Given the description of an element on the screen output the (x, y) to click on. 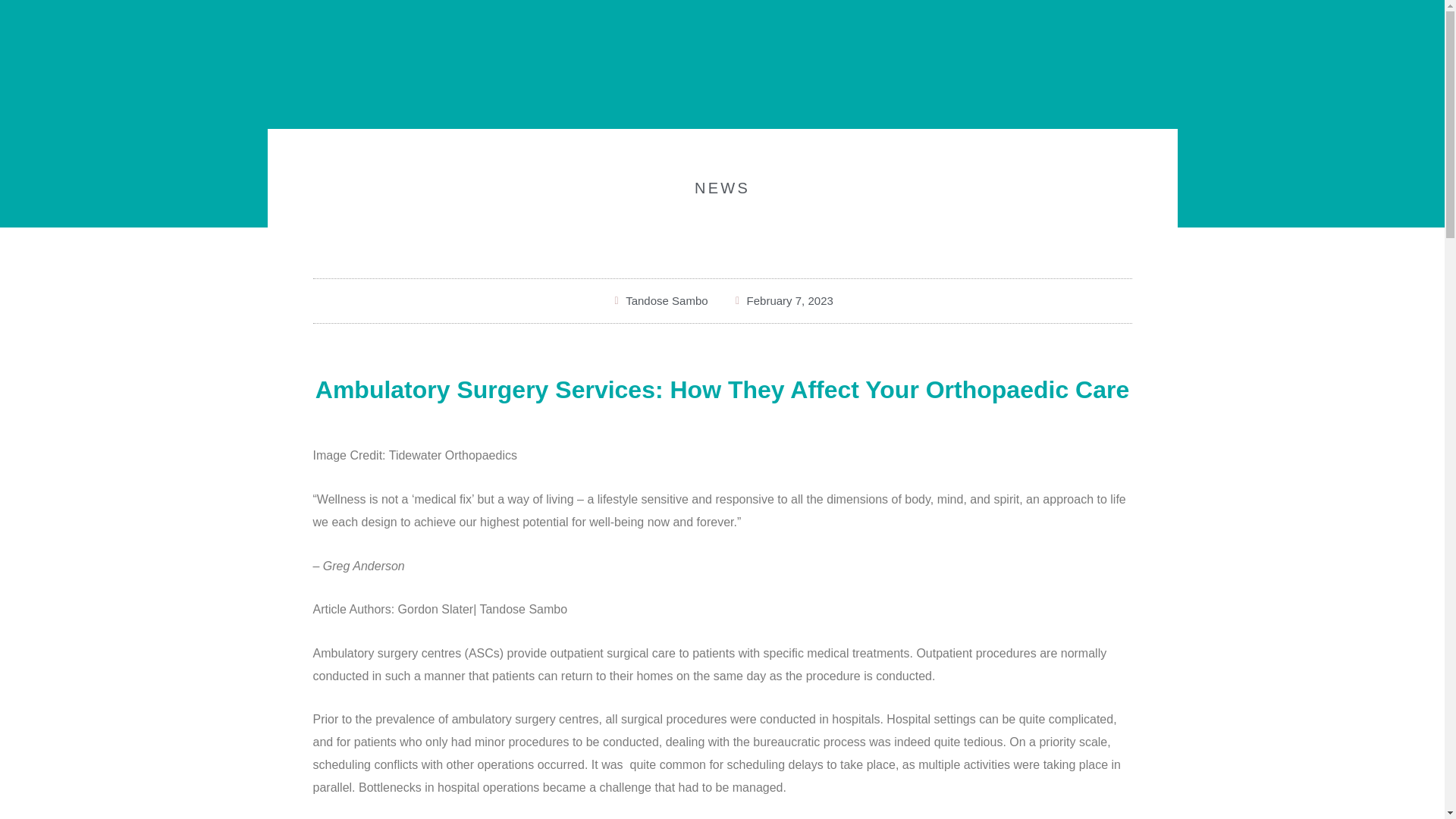
NEWS (721, 187)
Tandose Sambo (659, 301)
February 7, 2023 (782, 301)
